Given the description of an element on the screen output the (x, y) to click on. 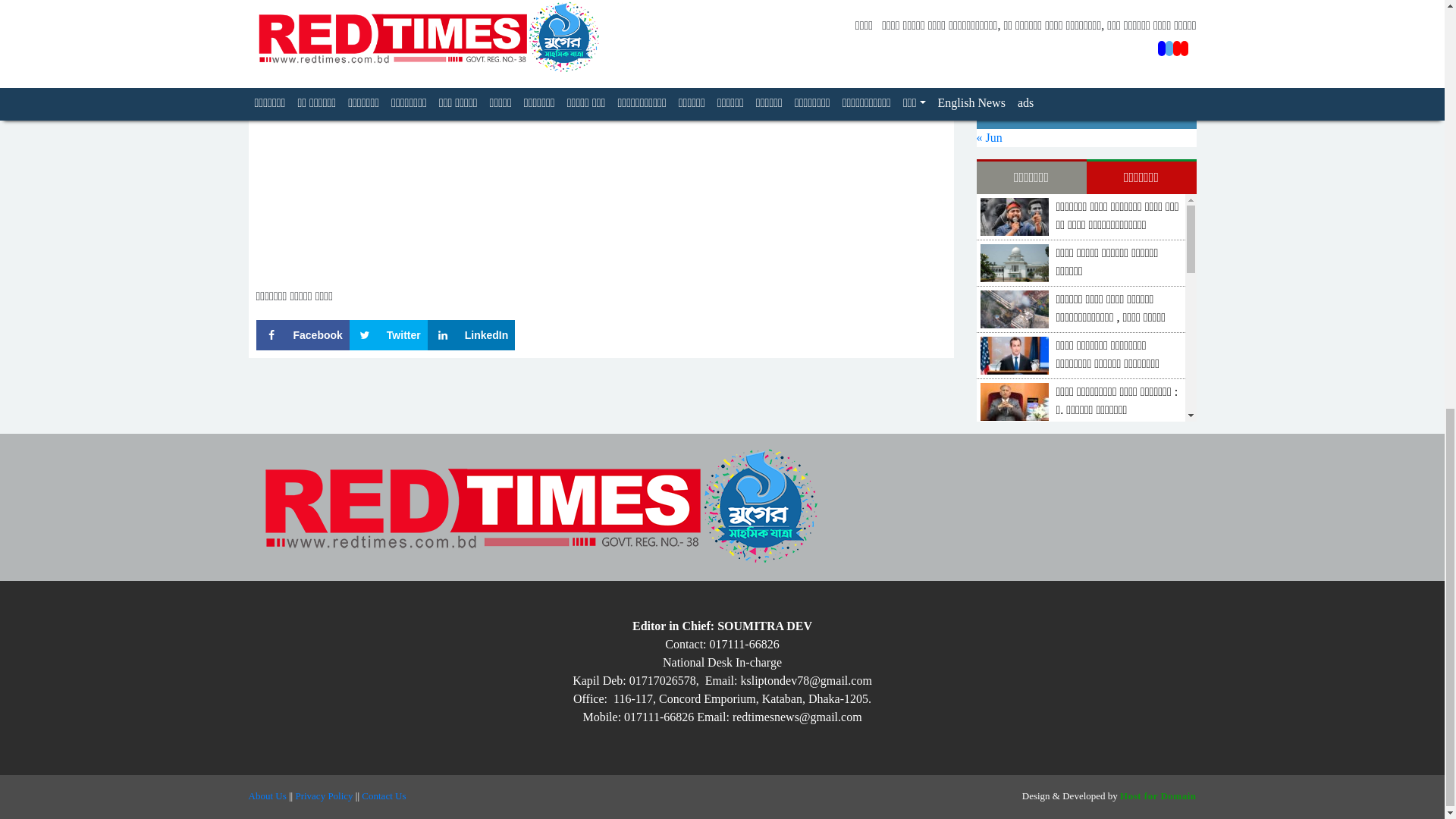
LinkedIn (471, 335)
Share on LinkedIn (471, 335)
Share on Facebook (302, 335)
Share on Twitter (388, 335)
Twitter (388, 335)
Facebook (302, 335)
